Given the description of an element on the screen output the (x, y) to click on. 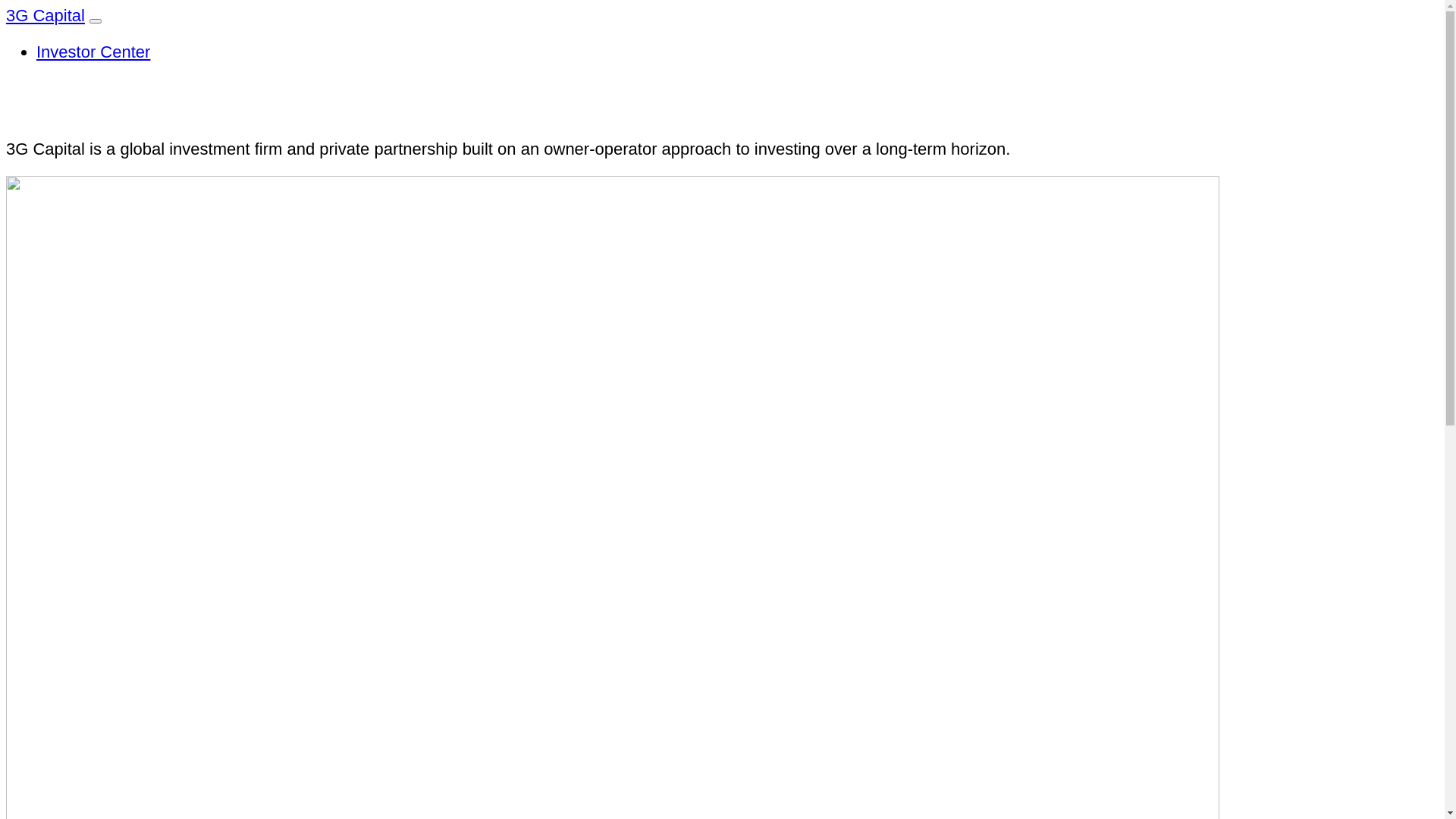
Investor Center Element type: text (93, 51)
3G Capital Element type: text (45, 15)
